Given the description of an element on the screen output the (x, y) to click on. 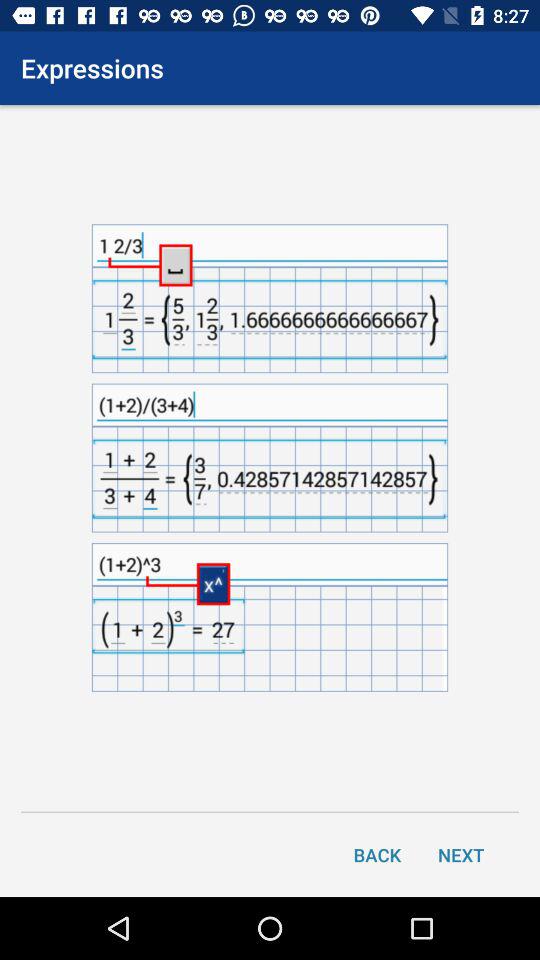
turn on the icon to the left of next icon (377, 854)
